Given the description of an element on the screen output the (x, y) to click on. 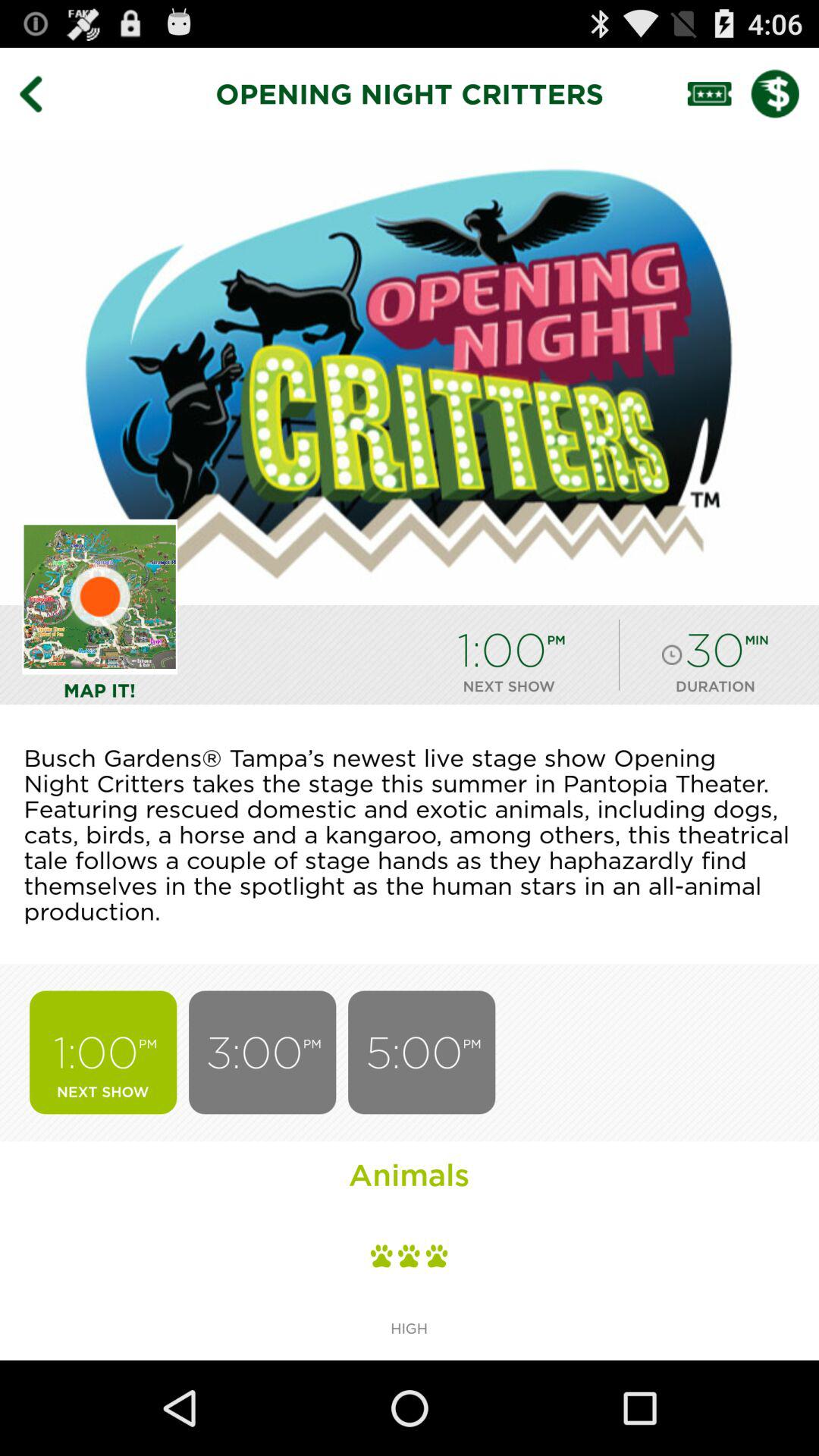
turn off the icon next to the opening night critters item (41, 93)
